Given the description of an element on the screen output the (x, y) to click on. 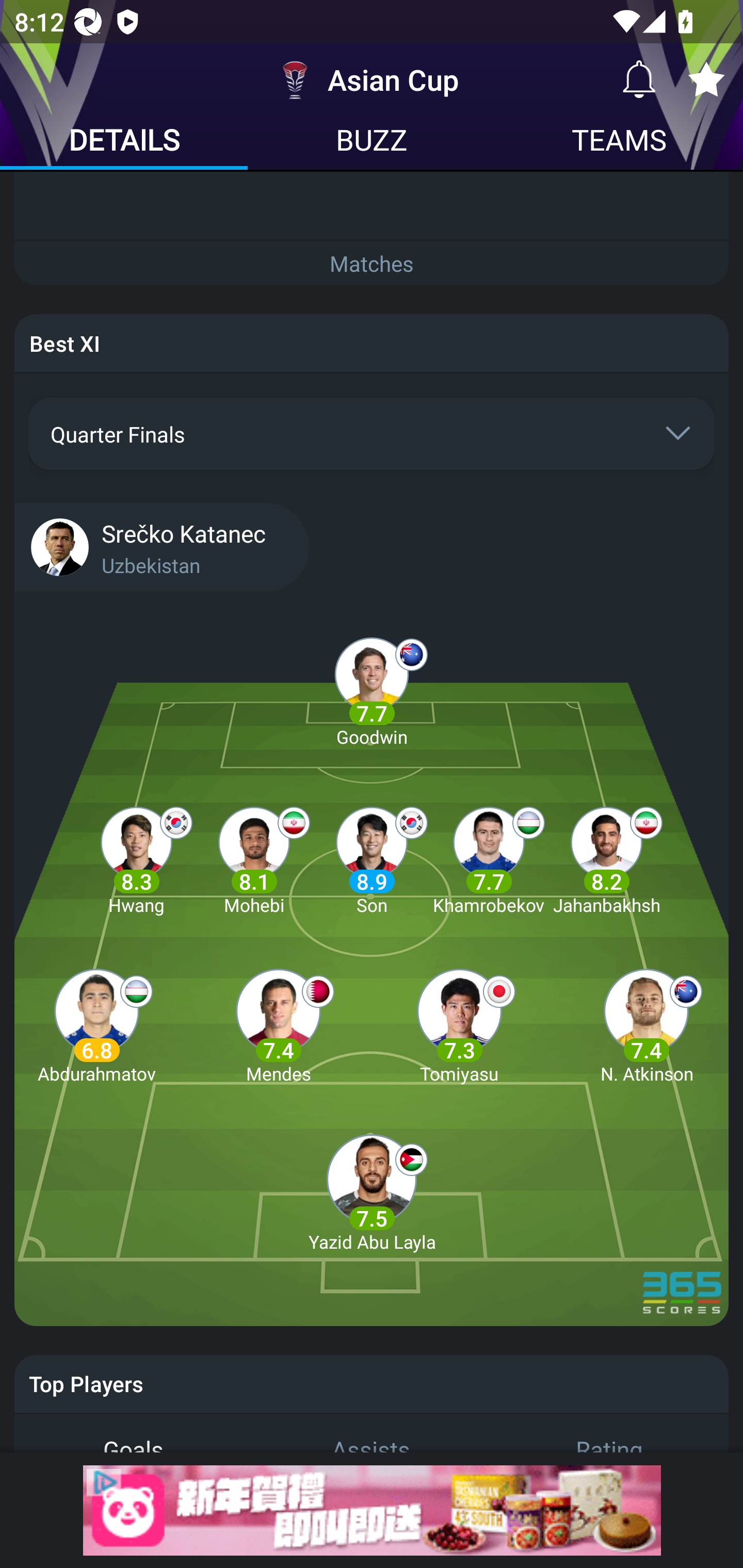
DETAILS (123, 142)
BUZZ (371, 142)
TEAMS (619, 142)
Matches (371, 263)
Quarter Finals (371, 434)
Srečko Katanec Uzbekistan (371, 546)
Goodwin 7.7 (371, 688)
Hwang 8.3 (136, 857)
Mohebi 8.1 (253, 857)
8.9 Son (371, 857)
Khamrobekov 7.7 (488, 857)
Jahanbakhsh 8.2 (606, 857)
Abdurahmatov 6.8 (96, 1025)
Mendes 7.4 (278, 1025)
Tomiyasu 7.3 (459, 1025)
N. Atkinson 7.4 (646, 1025)
Yazid Abu Layla 7.5 (371, 1193)
Top Players (371, 1383)
mg0gkqli_320x50 (371, 1509)
